Given the description of an element on the screen output the (x, y) to click on. 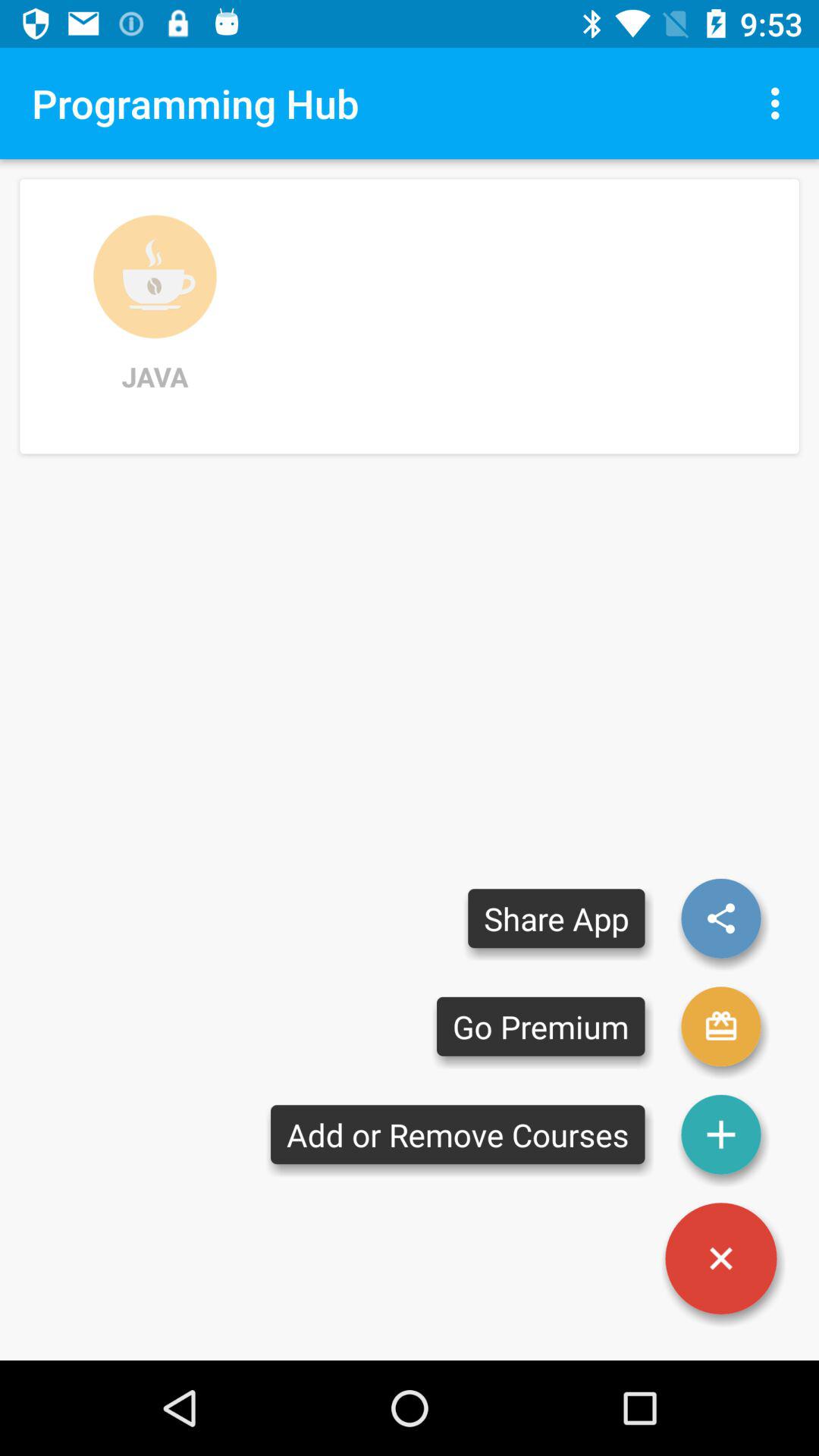
open item below the go premium (457, 1134)
